Given the description of an element on the screen output the (x, y) to click on. 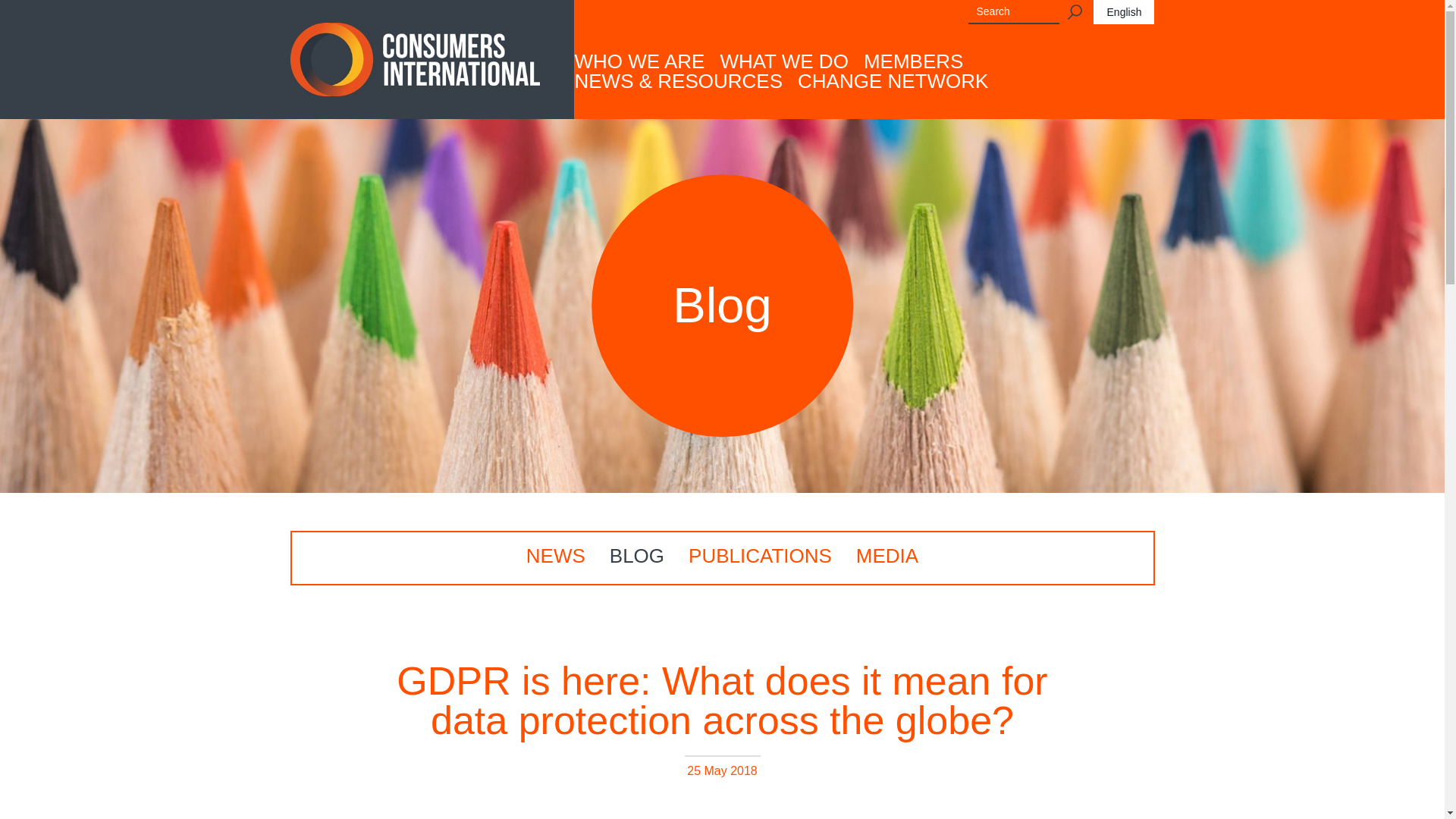
WHAT WE DO (783, 61)
WHO WE ARE (638, 61)
CHANGE NETWORK (892, 80)
MEMBERS (912, 61)
English (1123, 12)
